Given the description of an element on the screen output the (x, y) to click on. 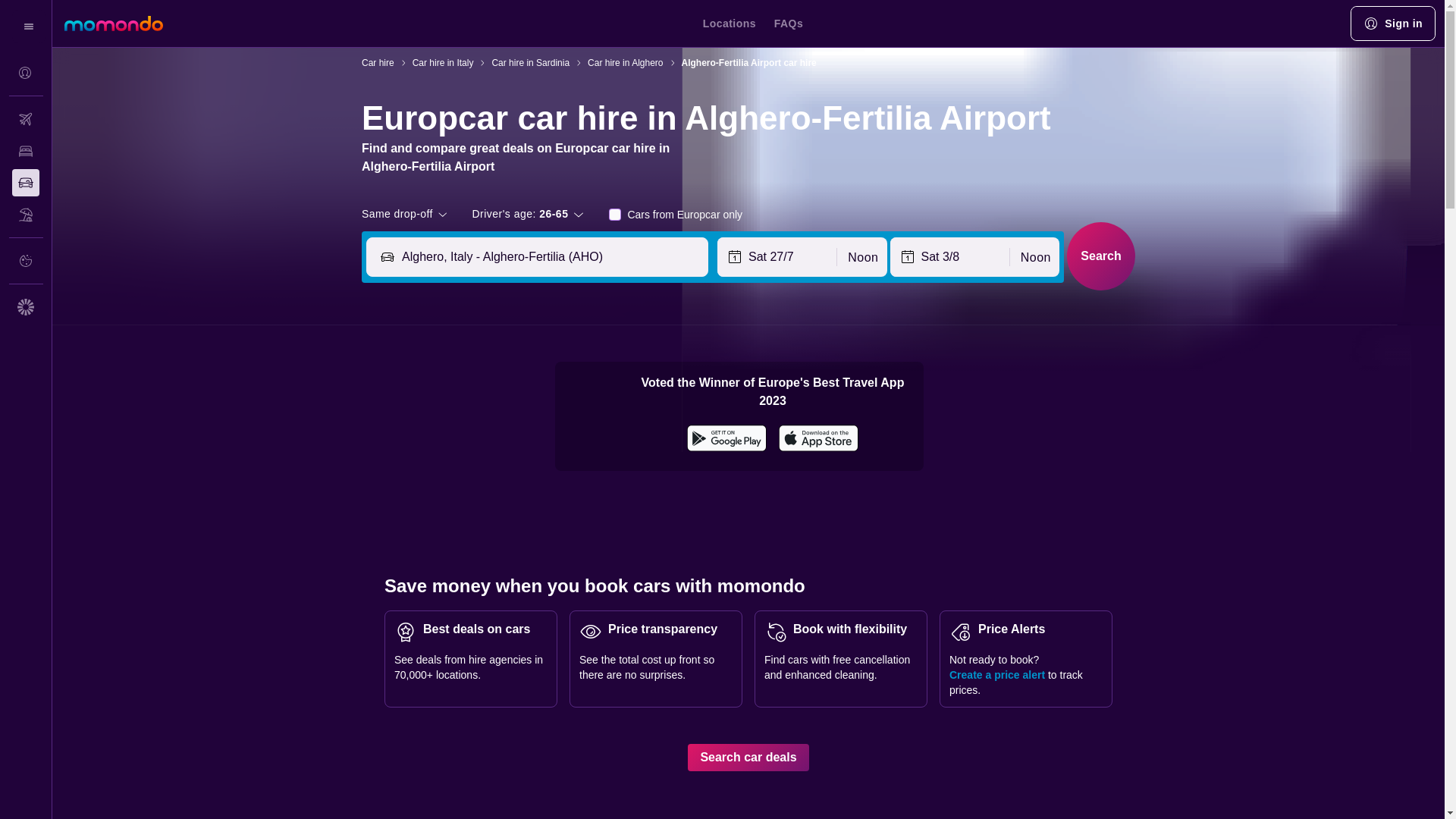
Search (1101, 255)
Get it on Google Play (727, 439)
Car hire in Italy (443, 62)
Car hire (377, 62)
Car hire in Sardinia (530, 62)
Search car deals (747, 757)
Create a price alert (997, 674)
Search (1101, 255)
Car hire in Alghero (625, 62)
Download on the App Store (818, 439)
